Given the description of an element on the screen output the (x, y) to click on. 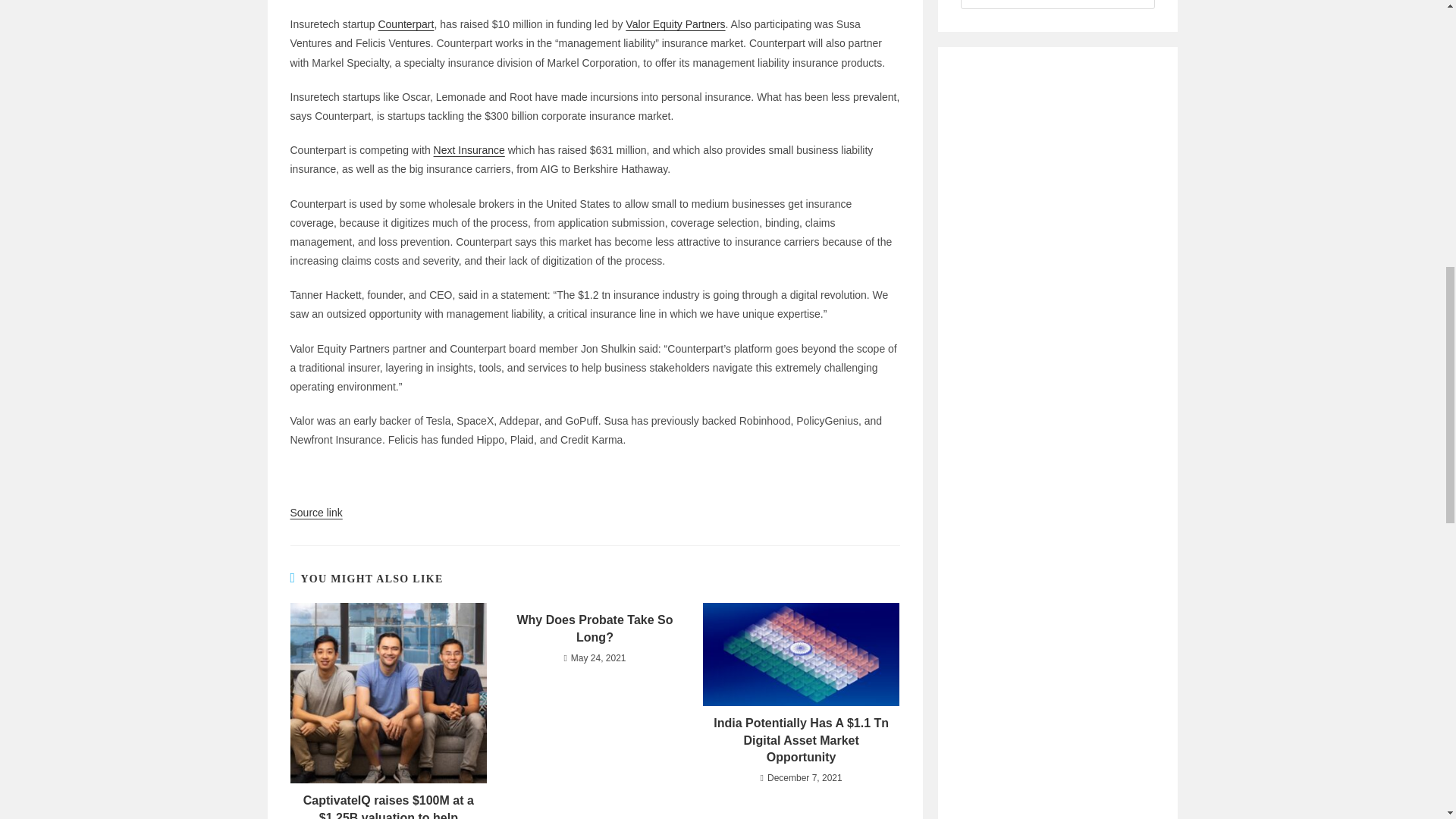
Valor Equity Partners (675, 24)
Next Insurance (469, 150)
Why Does Probate Take So Long? (594, 628)
Counterpart (405, 24)
Source link (315, 512)
